Given the description of an element on the screen output the (x, y) to click on. 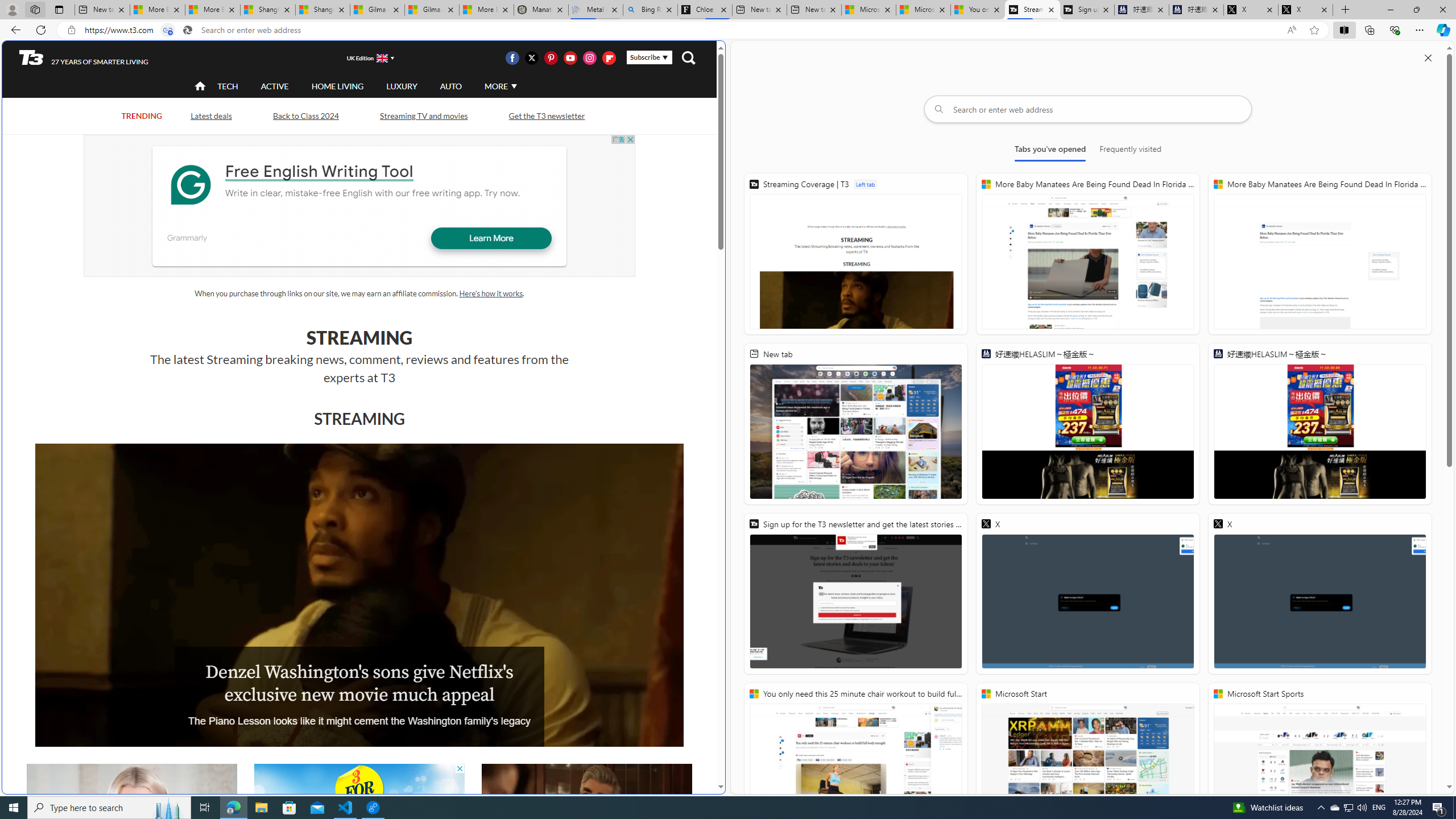
UK Edition (365, 57)
HOME LIVING (337, 86)
ACTIVE (274, 85)
T3 (30, 56)
Streaming TV and movies (423, 115)
Streaming Coverage | T3 (855, 253)
Visit us on Facebook (512, 57)
